Given the description of an element on the screen output the (x, y) to click on. 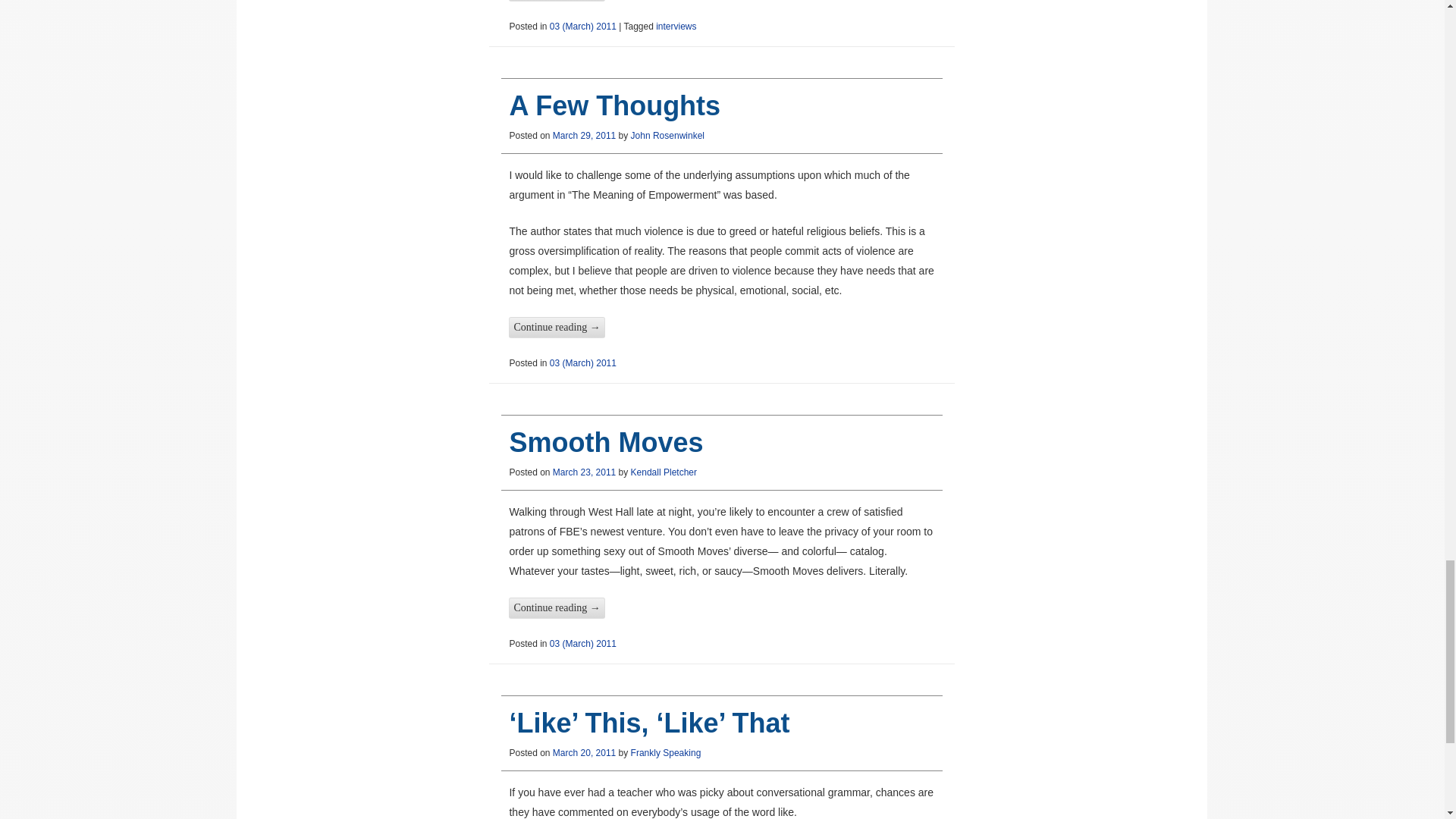
Smooth Moves (605, 441)
interviews (675, 26)
22:24 (584, 135)
March 29, 2011 (584, 135)
Kendall Pletcher (663, 471)
View all posts by Kendall Pletcher (663, 471)
John Rosenwinkel (667, 135)
22:22 (584, 471)
March 23, 2011 (584, 471)
View all posts by John Rosenwinkel (667, 135)
A Few Thoughts (614, 105)
